Given the description of an element on the screen output the (x, y) to click on. 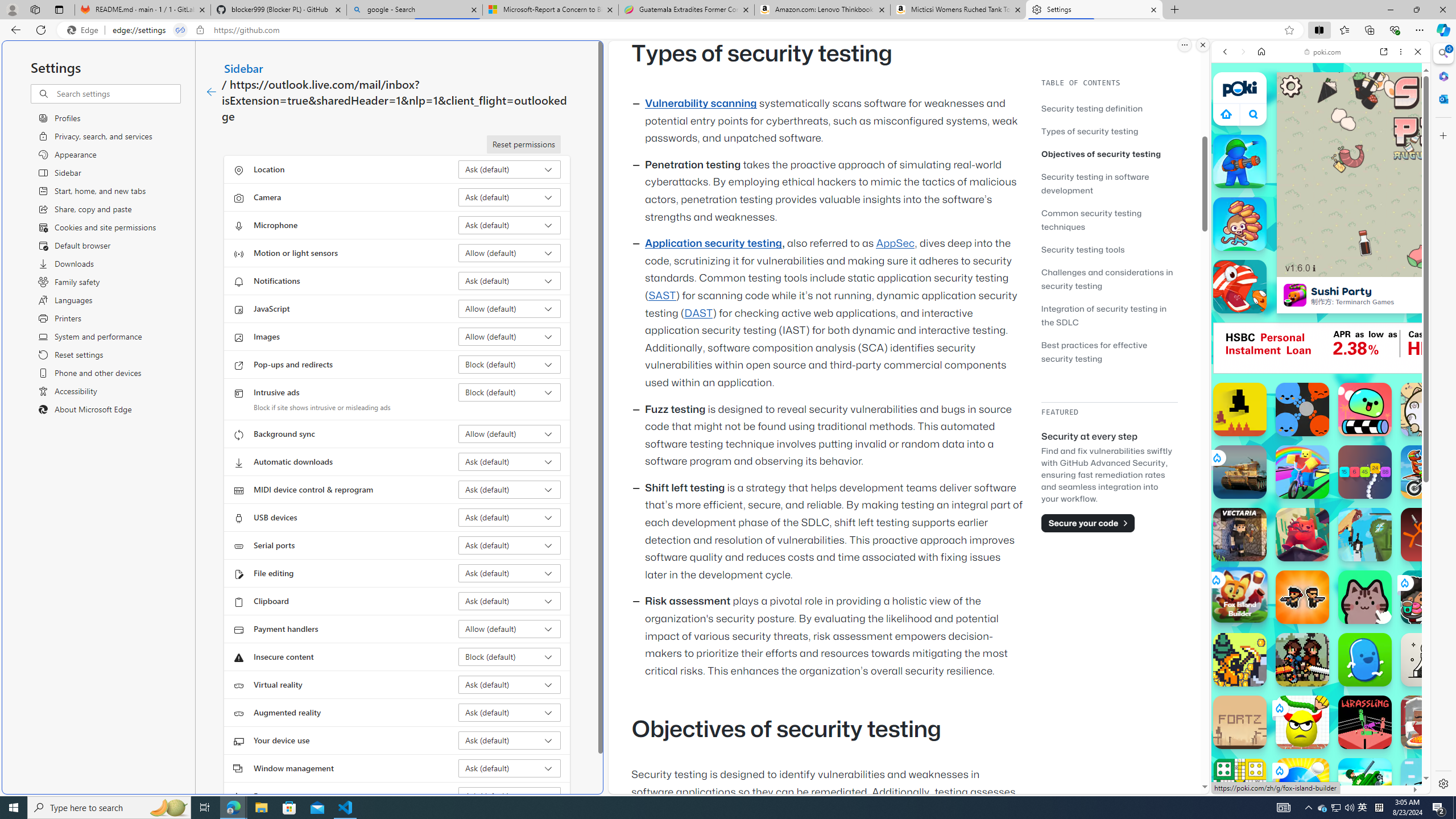
Challenges and considerations in security testing (1107, 278)
Challenges and considerations in security testing (1109, 279)
Hills of Steel Hills of Steel poki.com (1264, 548)
Pop-ups and redirects Block (default) (509, 364)
Security testing in software development (1094, 182)
Rooftop Snipers Rooftop Snipers (1427, 784)
Class: c01182 (210, 91)
Class: hvLtMSipvVng82x9Seuh (1294, 295)
Shooting Games (1320, 295)
Sports Games (1320, 379)
